Given the description of an element on the screen output the (x, y) to click on. 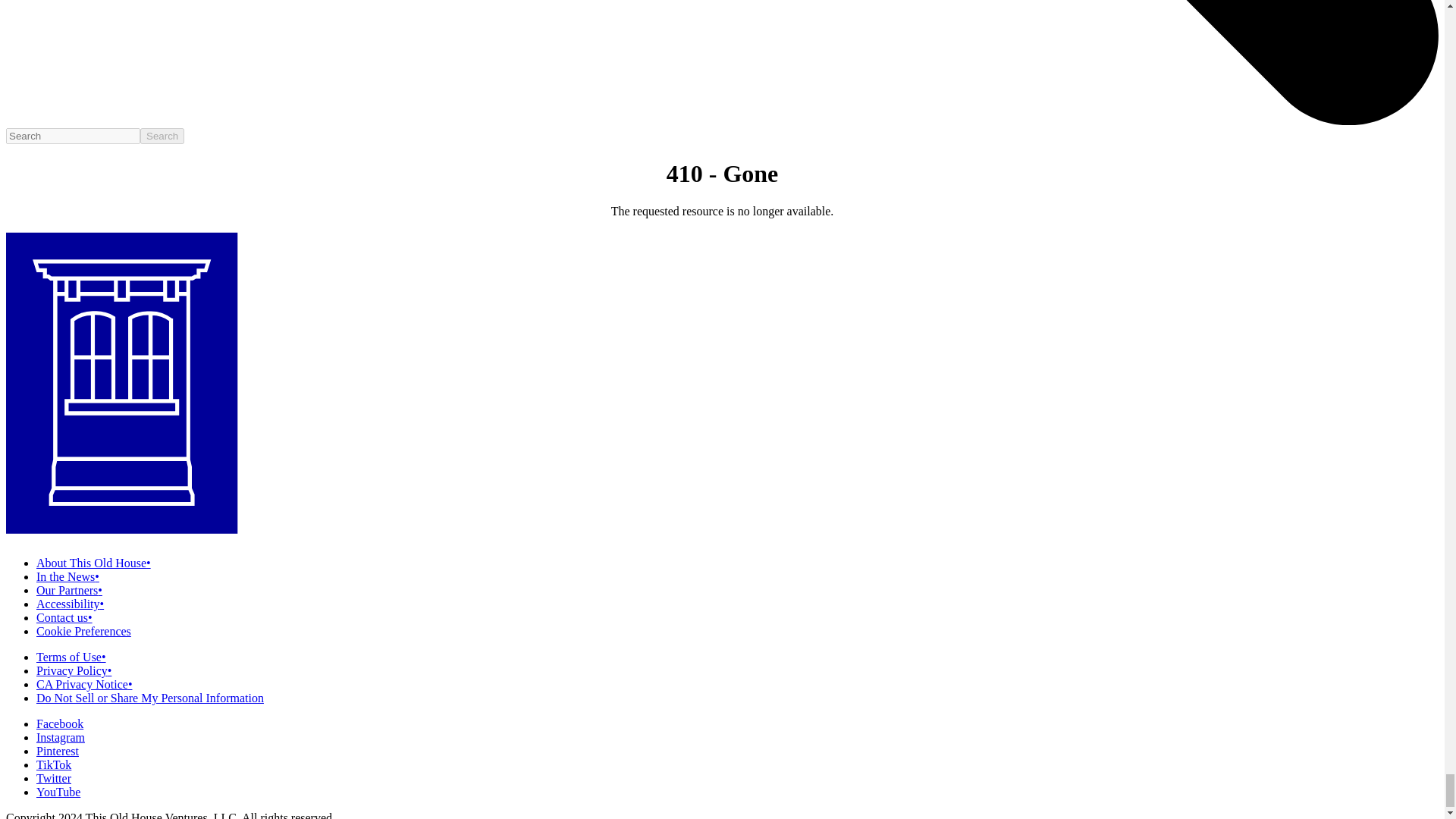
Search (161, 135)
